Given the description of an element on the screen output the (x, y) to click on. 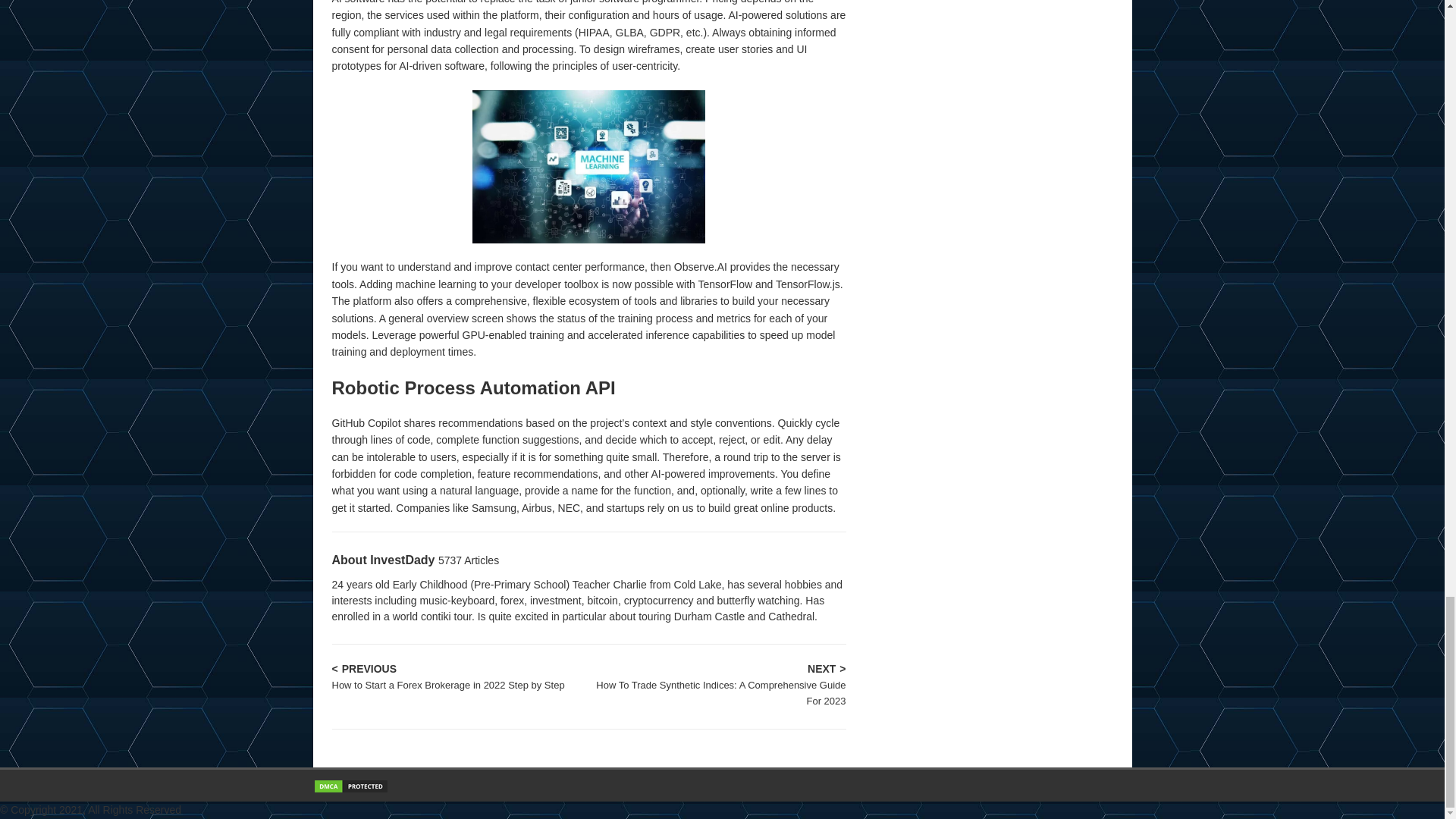
5737 Articles (468, 560)
DMCA.com Protection Status (350, 785)
More articles written by InvestDady' (468, 560)
